Given the description of an element on the screen output the (x, y) to click on. 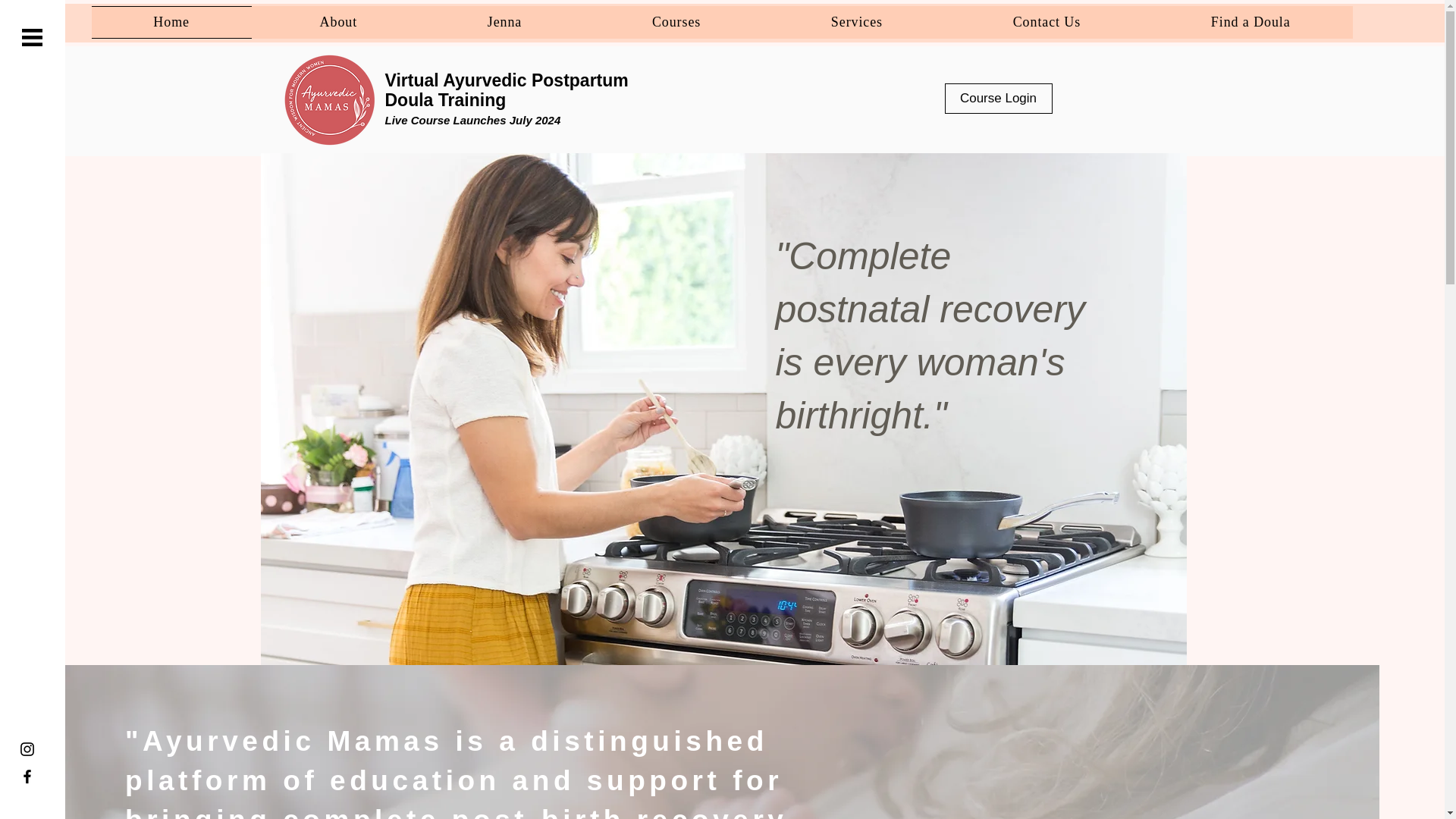
Jenna (504, 21)
Contact Us (1046, 21)
Home (170, 21)
About (338, 21)
Find a Doula (1250, 21)
Course Login (998, 98)
Courses (675, 21)
Services (856, 21)
